Given the description of an element on the screen output the (x, y) to click on. 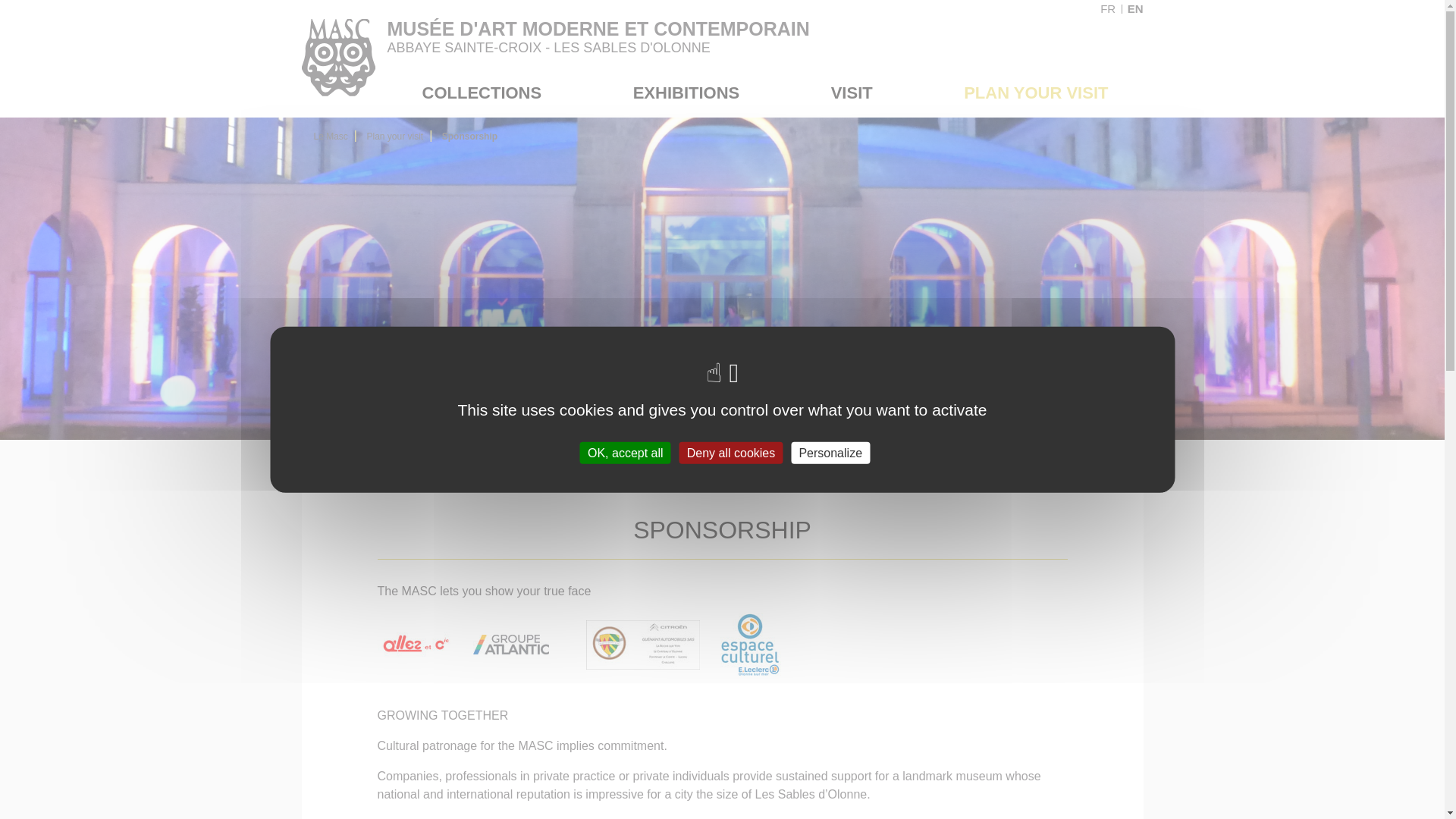
Opening hours and Admission (1064, 128)
Current exhibition (701, 128)
Exhibitions (686, 92)
EXHIBITIONS (686, 92)
Le Masc (330, 136)
EN (1134, 8)
VISIT (851, 92)
FR (1111, 8)
Plan your visit (1035, 92)
Sponsorship (469, 136)
